Given the description of an element on the screen output the (x, y) to click on. 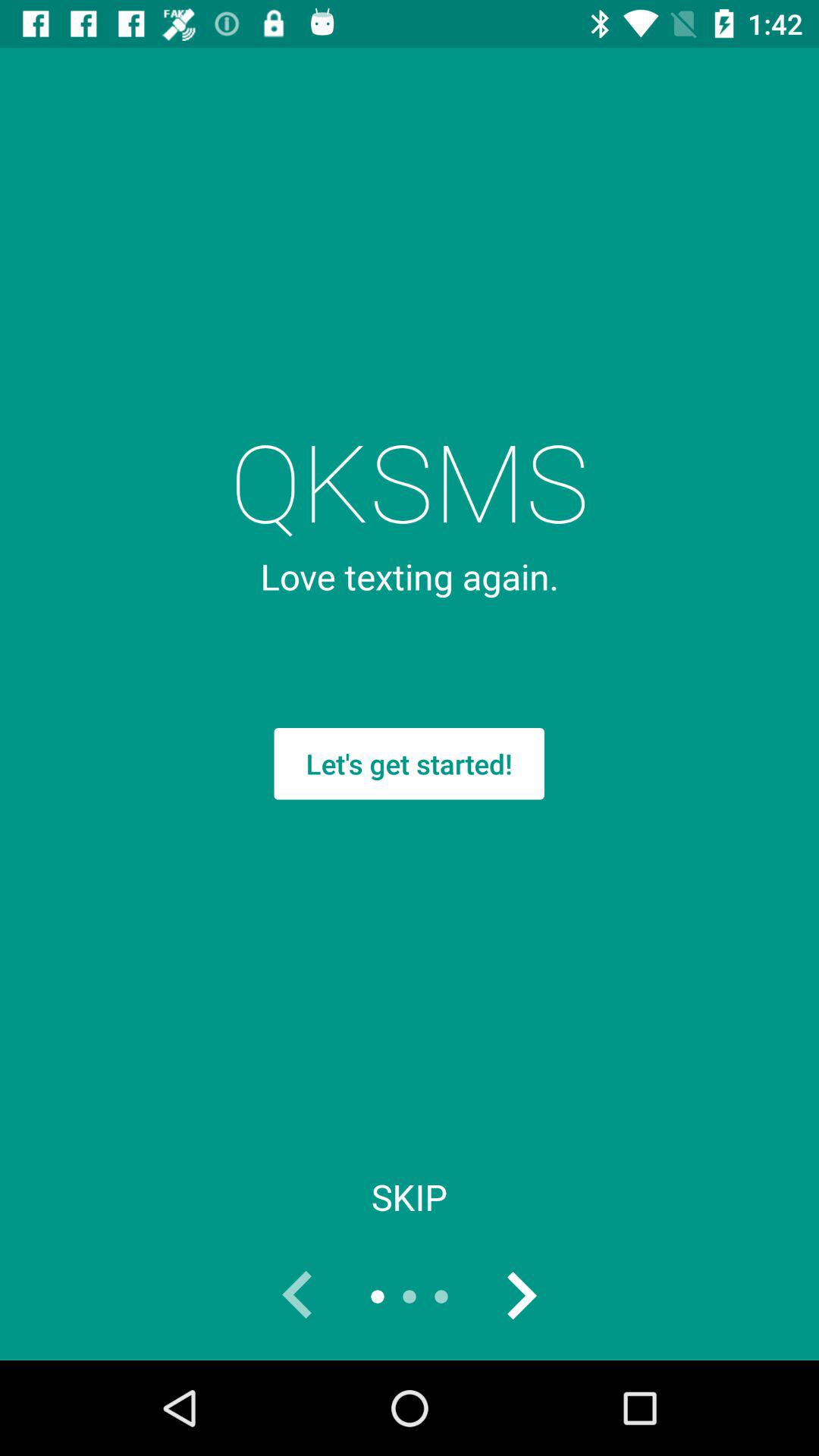
switch next page (520, 1296)
